Given the description of an element on the screen output the (x, y) to click on. 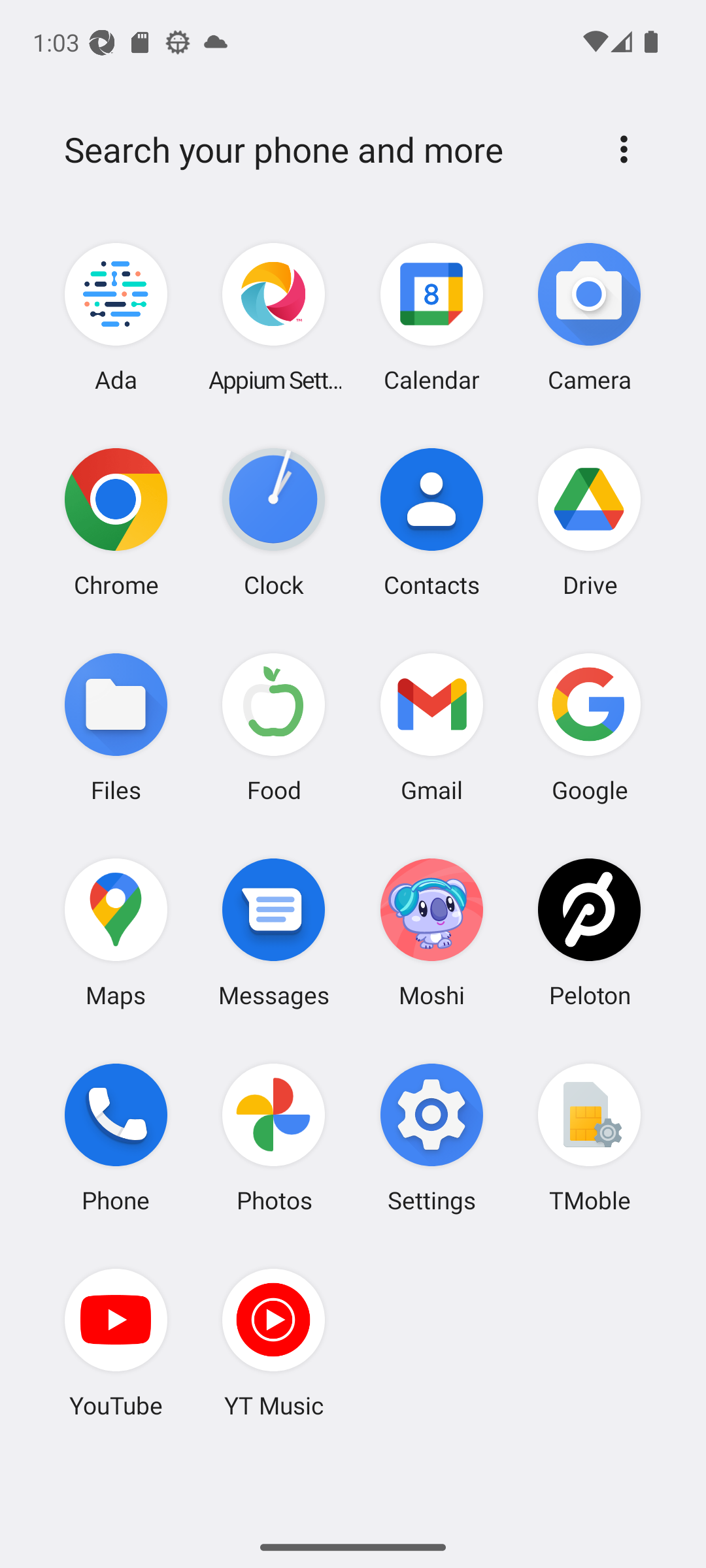
Search your phone and more (321, 149)
Preferences (623, 149)
Ada (115, 317)
Appium Settings (273, 317)
Calendar (431, 317)
Camera (589, 317)
Chrome (115, 522)
Clock (273, 522)
Contacts (431, 522)
Drive (589, 522)
Files (115, 726)
Food (273, 726)
Gmail (431, 726)
Google (589, 726)
Maps (115, 931)
Messages (273, 931)
Moshi (431, 931)
Peloton (589, 931)
Phone (115, 1137)
Photos (273, 1137)
Settings (431, 1137)
TMoble (589, 1137)
YouTube (115, 1342)
YT Music (273, 1342)
